Given the description of an element on the screen output the (x, y) to click on. 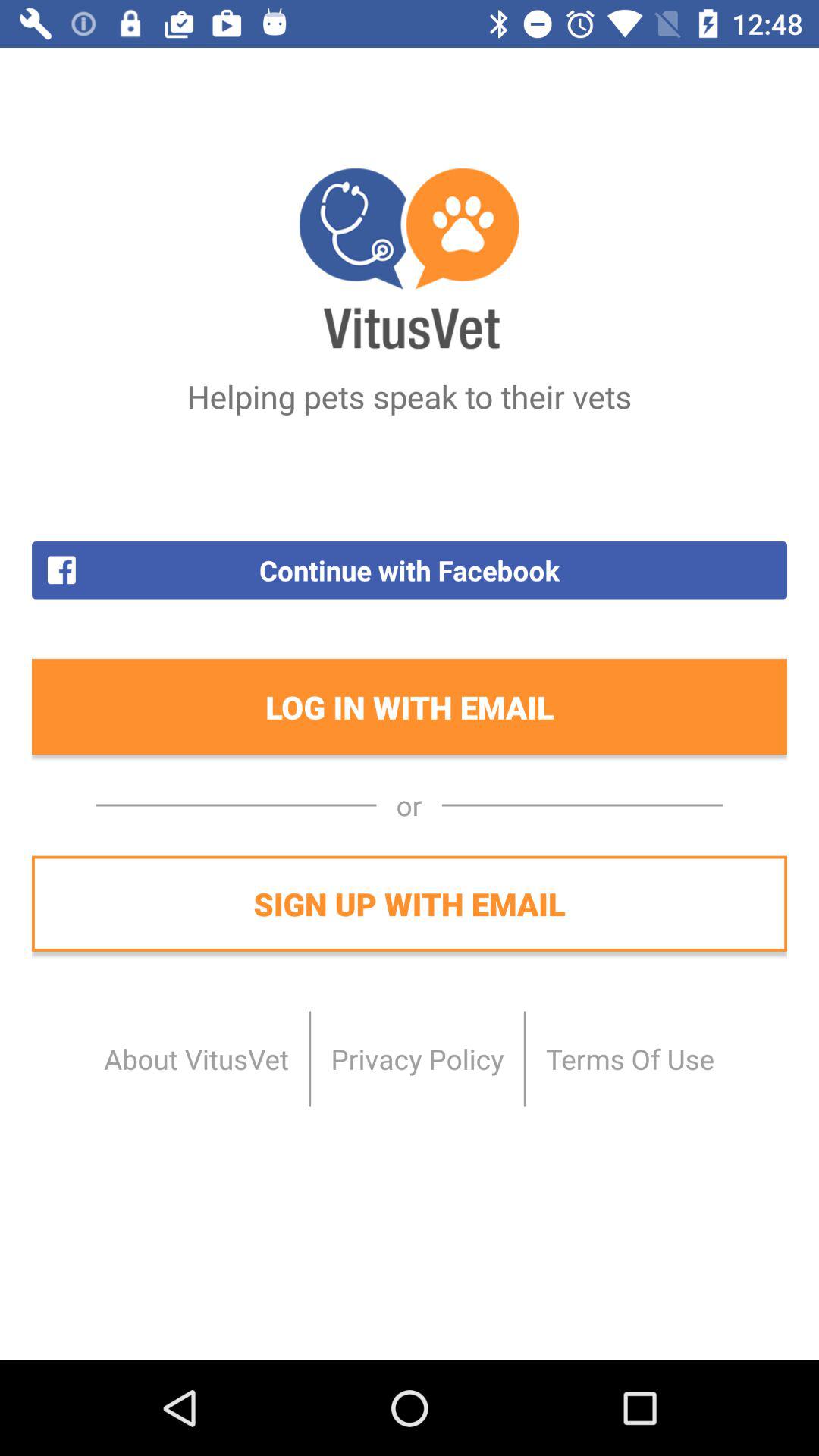
select the terms of use icon (630, 1058)
